Given the description of an element on the screen output the (x, y) to click on. 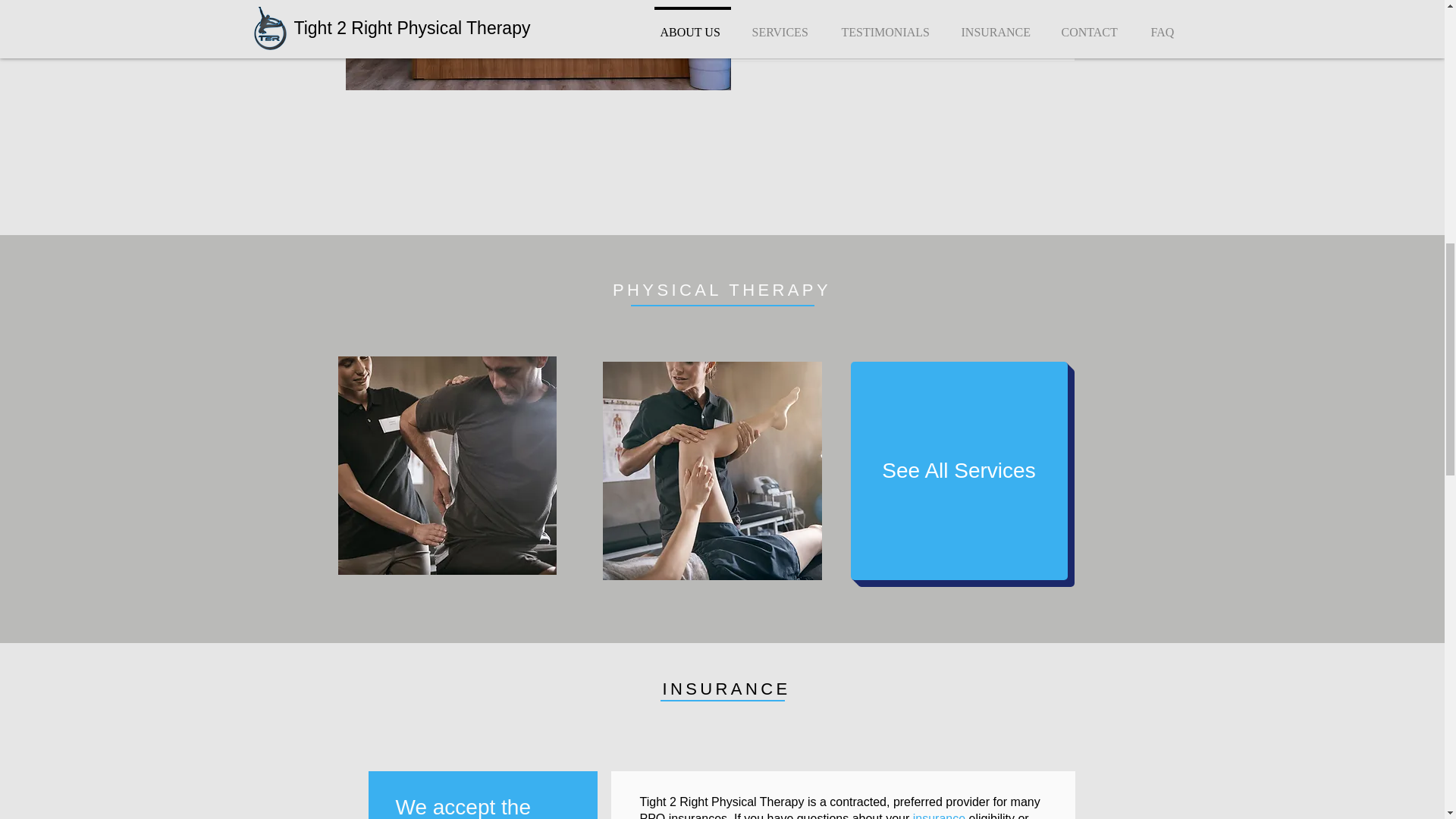
insurance (938, 815)
See All Services (958, 470)
